Given the description of an element on the screen output the (x, y) to click on. 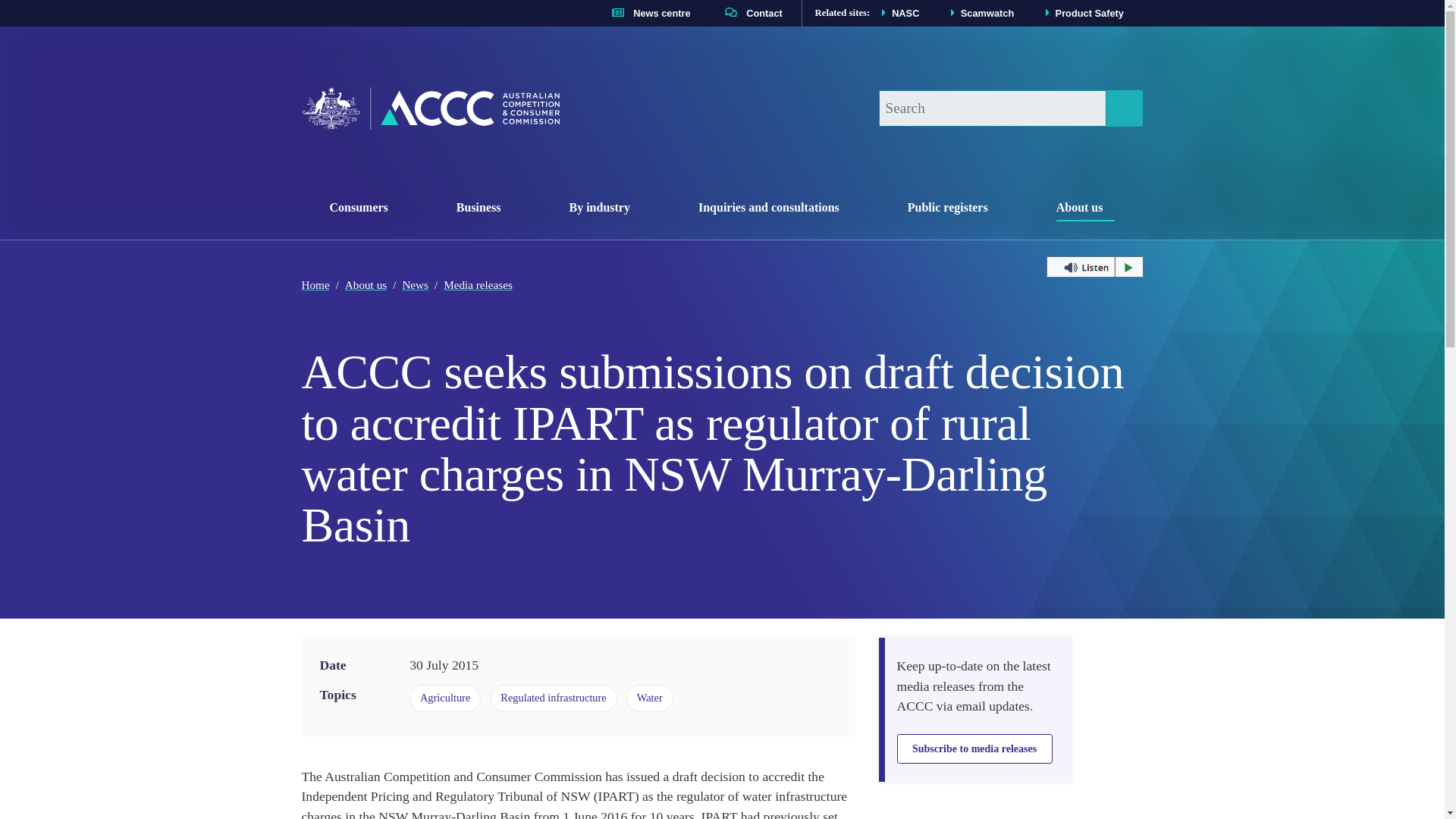
Listen to this page using ReadSpeaker (1094, 266)
ACCC home (430, 107)
Contact (749, 12)
Search (1123, 108)
NASC (897, 12)
Product Safety (1081, 12)
News centre (364, 205)
Scamwatch (646, 12)
